Given the description of an element on the screen output the (x, y) to click on. 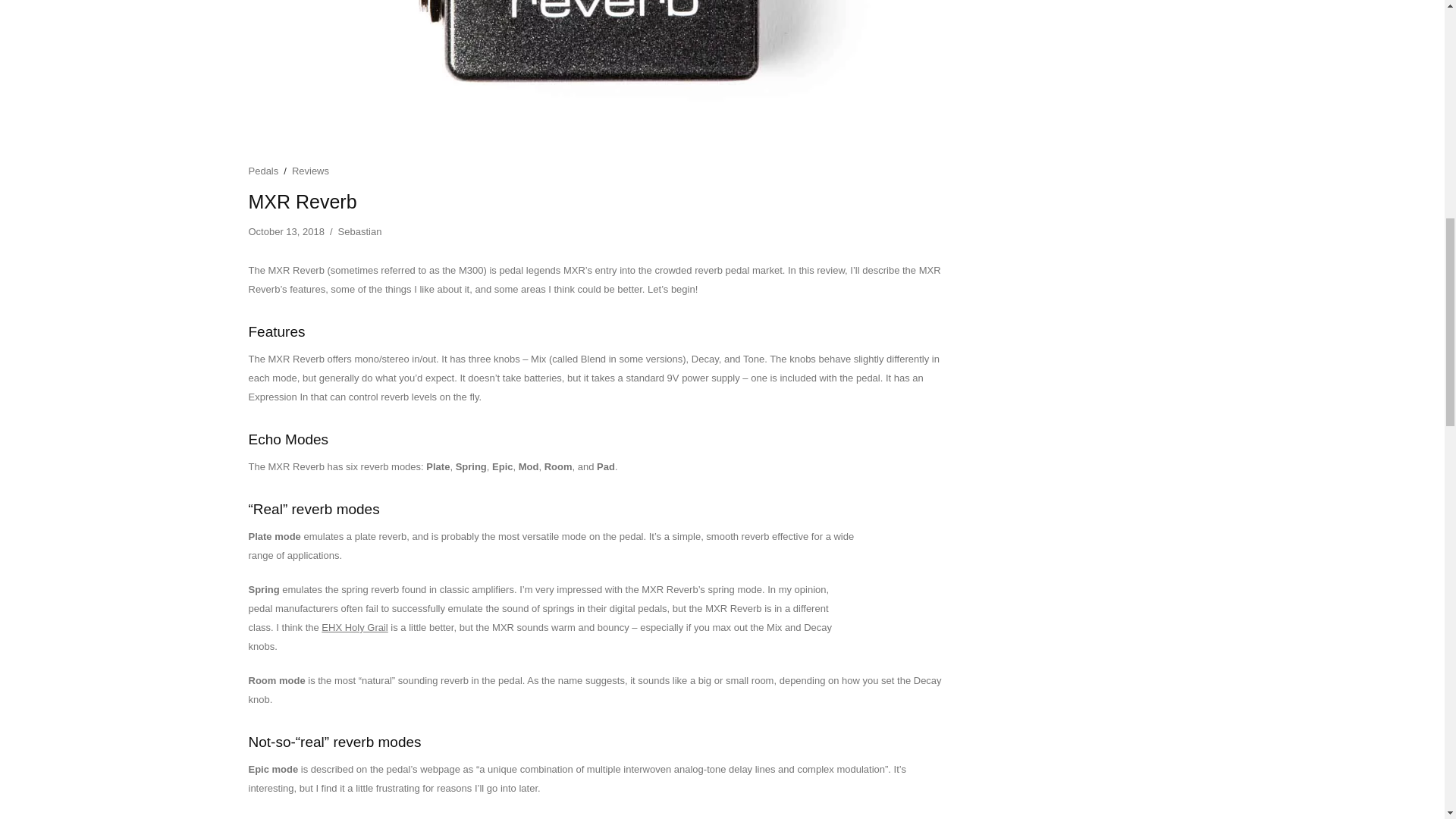
Reviews (310, 170)
Pedals (263, 170)
EHX Holy Grail (354, 627)
